Given the description of an element on the screen output the (x, y) to click on. 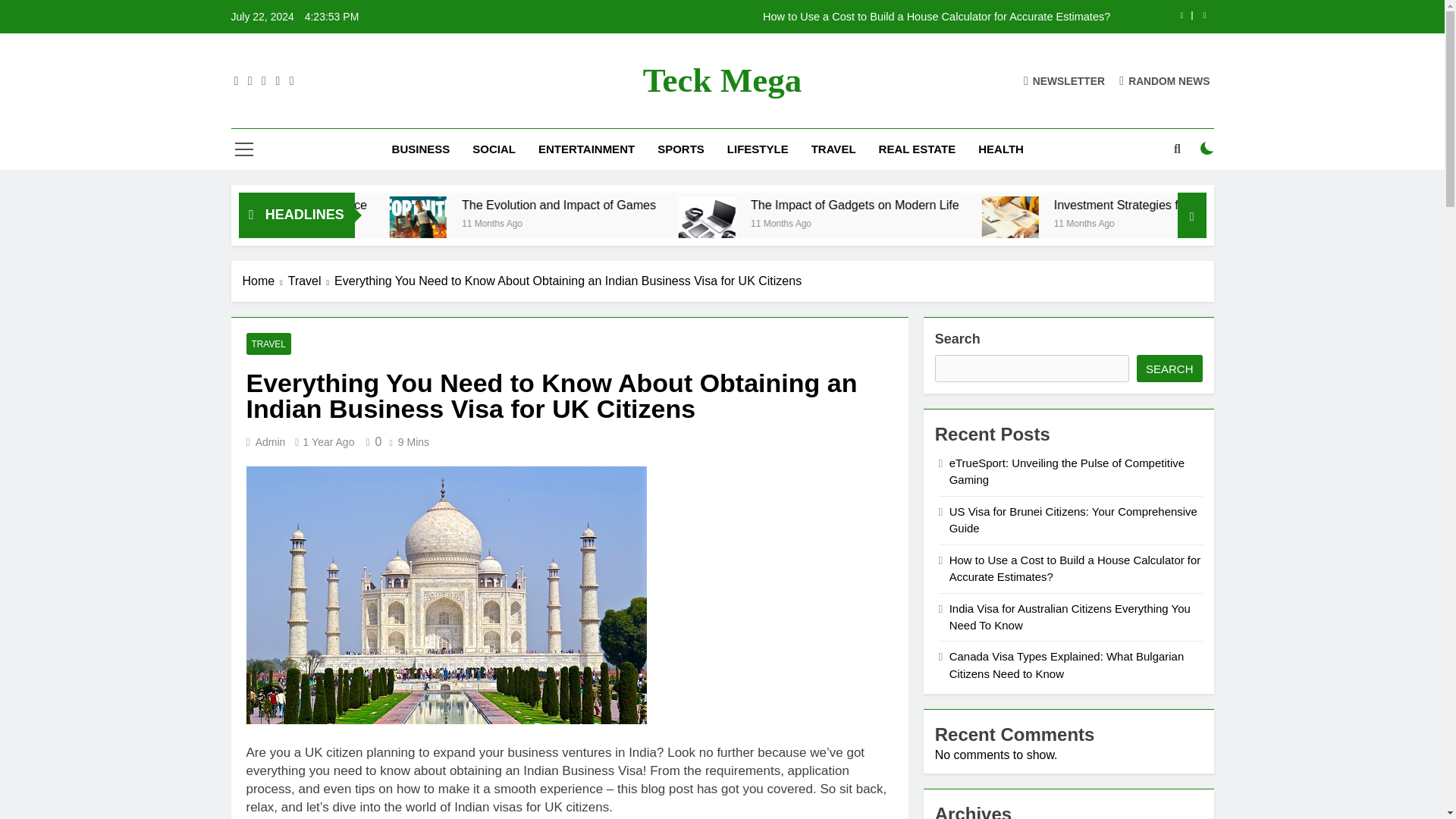
Home Improvement: Enhancing Your Living Space (467, 205)
Home Improvement: Enhancing Your Living Space (433, 205)
TRAVEL (833, 148)
The Evolution and Impact of Games (616, 224)
HEALTH (1000, 148)
The Impact of Gadgets on Modern Life (1073, 205)
SOCIAL (494, 148)
11 Months Ago (359, 222)
11 Months Ago (717, 222)
LIFESTYLE (757, 148)
RANDOM NEWS (1164, 80)
ENTERTAINMENT (586, 148)
REAL ESTATE (917, 148)
SPORTS (681, 148)
